Given the description of an element on the screen output the (x, y) to click on. 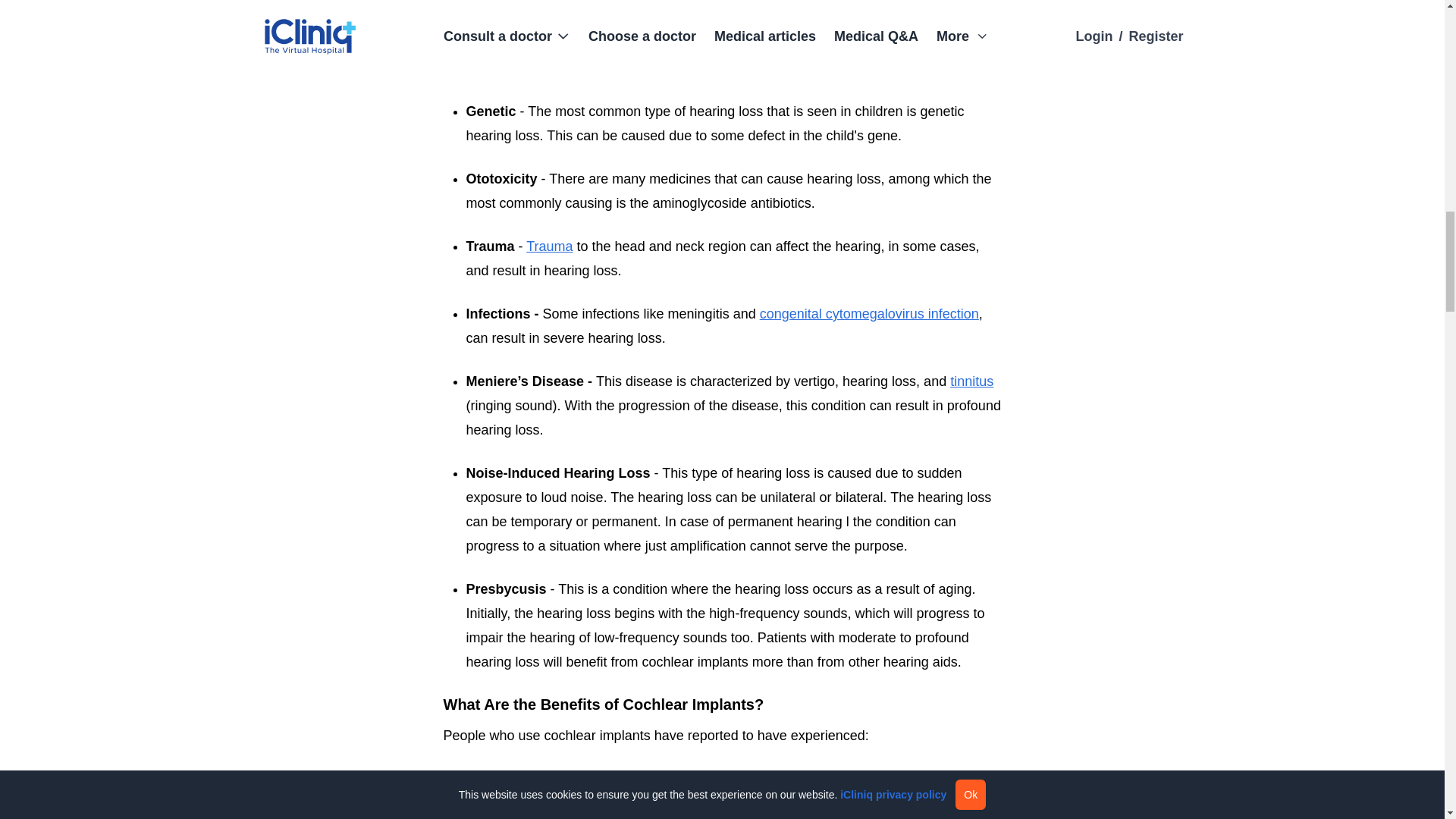
Trauma (548, 246)
Congenital Cytomegalovirus Infection (869, 313)
Tinnitus (971, 381)
